Given the description of an element on the screen output the (x, y) to click on. 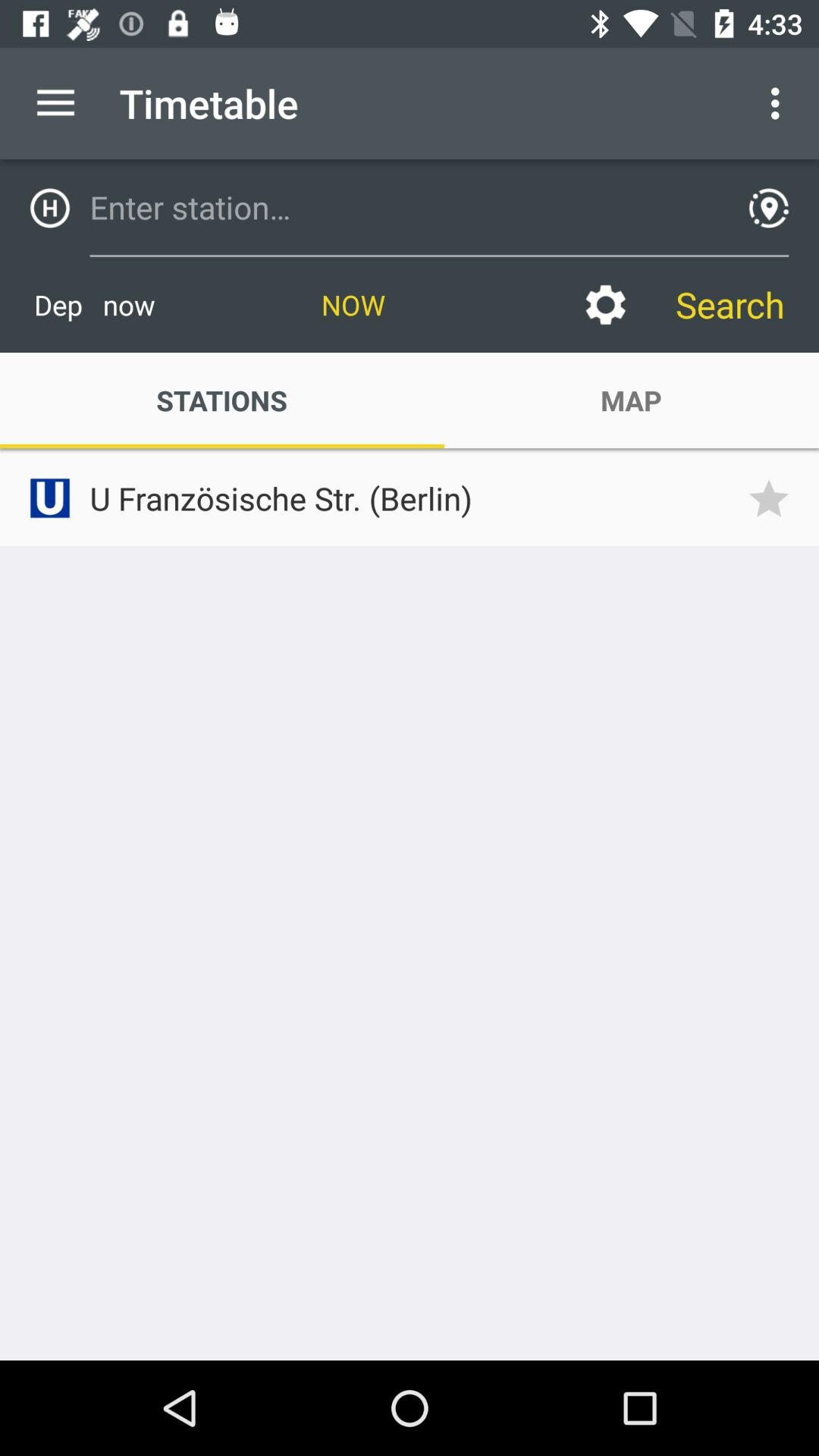
enter station (403, 206)
